Given the description of an element on the screen output the (x, y) to click on. 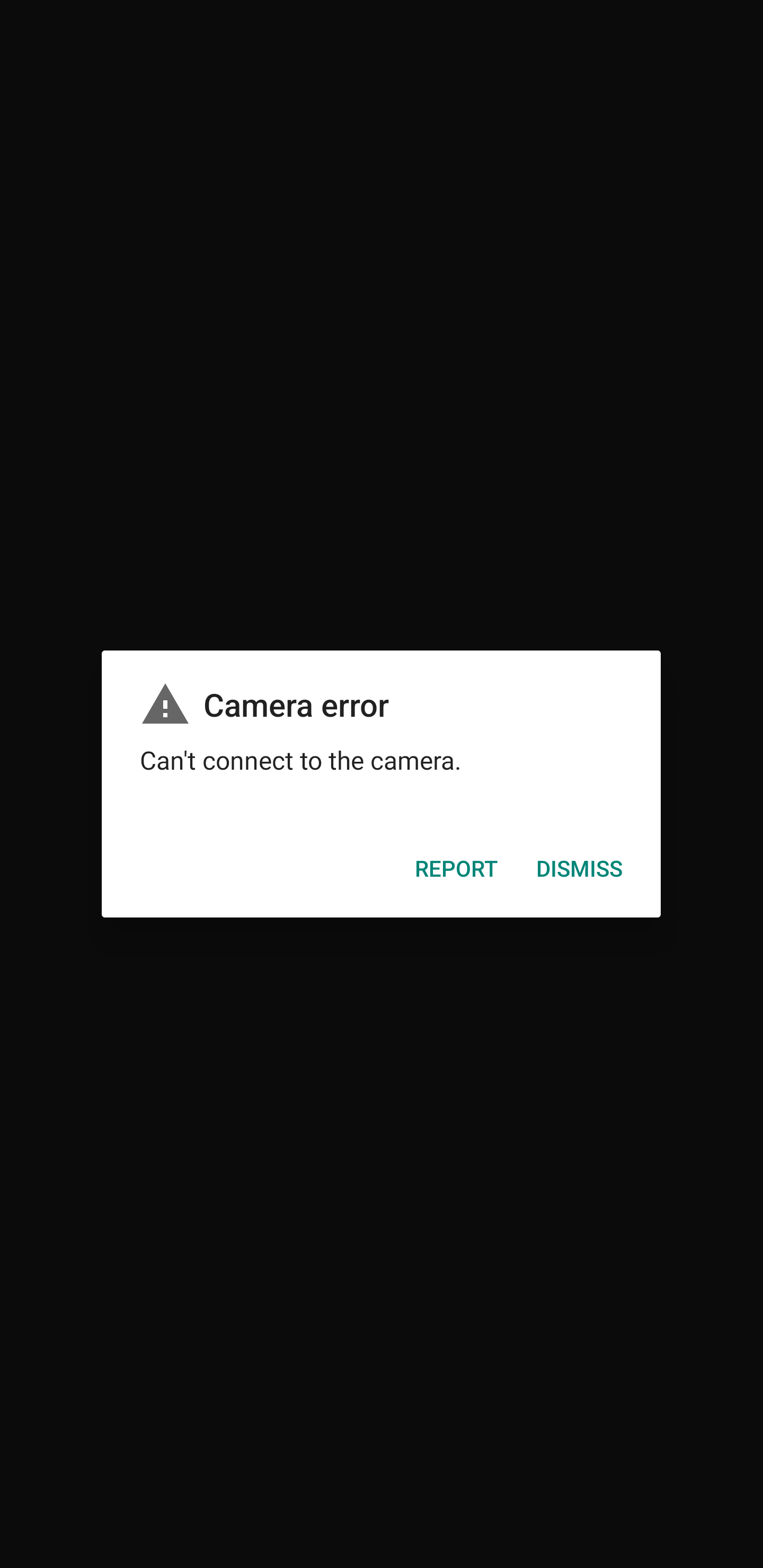
REPORT (456, 867)
DISMISS (579, 867)
